Given the description of an element on the screen output the (x, y) to click on. 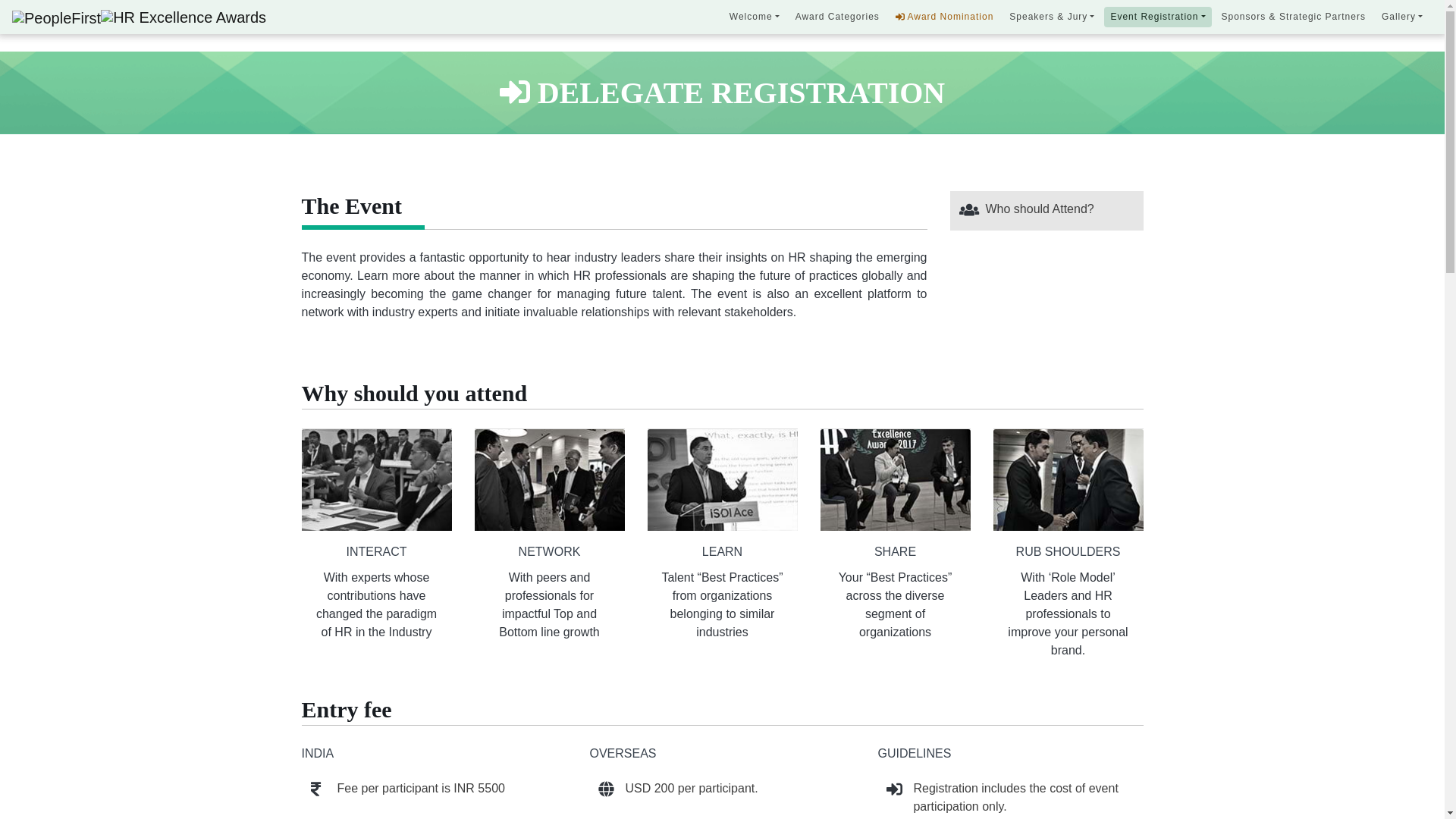
Event Registration (1157, 16)
Award Categories (837, 16)
Who should Attend? (1039, 208)
Gallery (1401, 16)
Award Nomination (944, 16)
Welcome (754, 16)
